Given the description of an element on the screen output the (x, y) to click on. 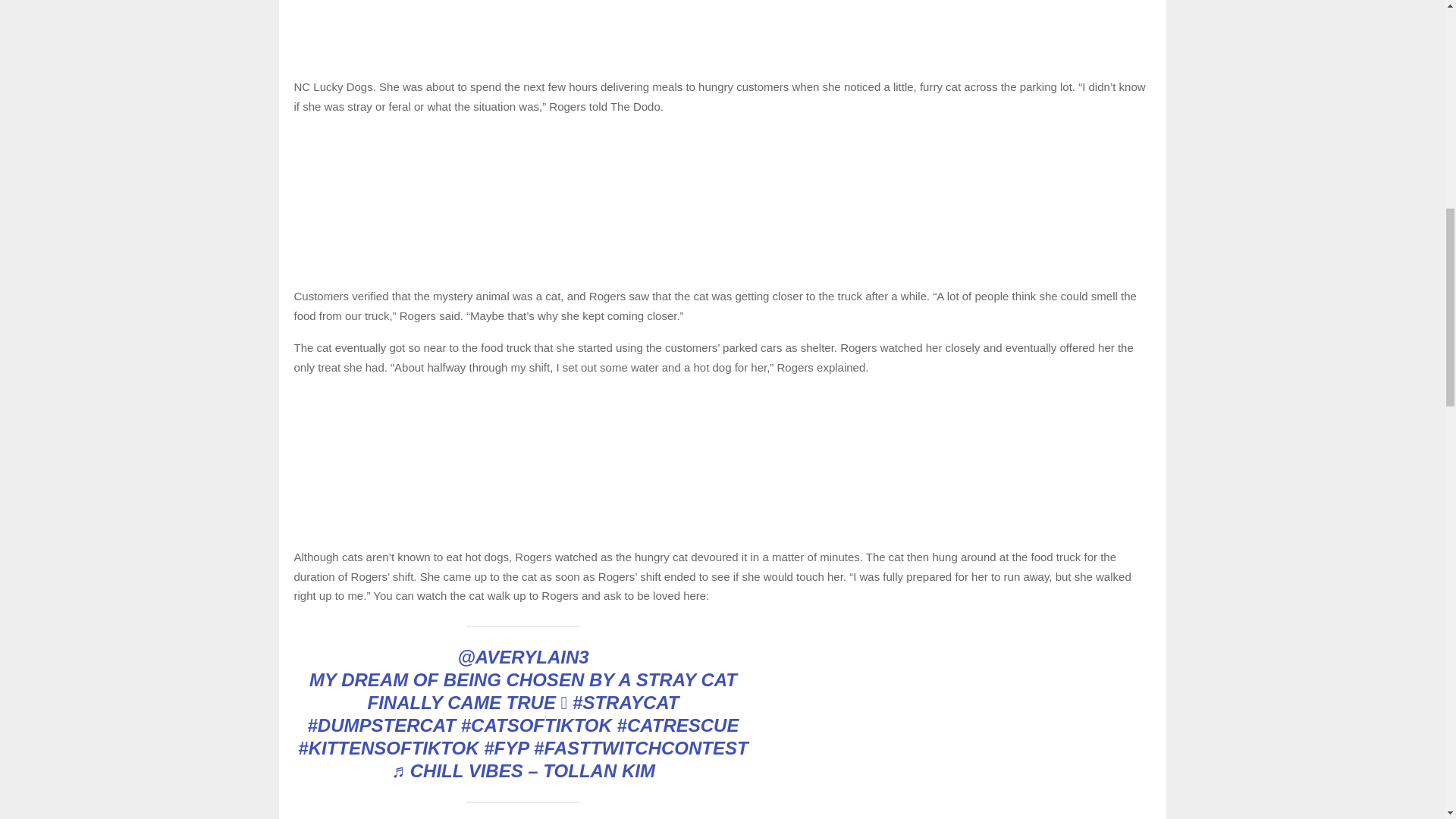
straycat (625, 702)
catrescue (678, 724)
kittensoftiktok (388, 747)
catsoftiktok (536, 724)
dumpstercat (382, 724)
fyp (505, 747)
